Given the description of an element on the screen output the (x, y) to click on. 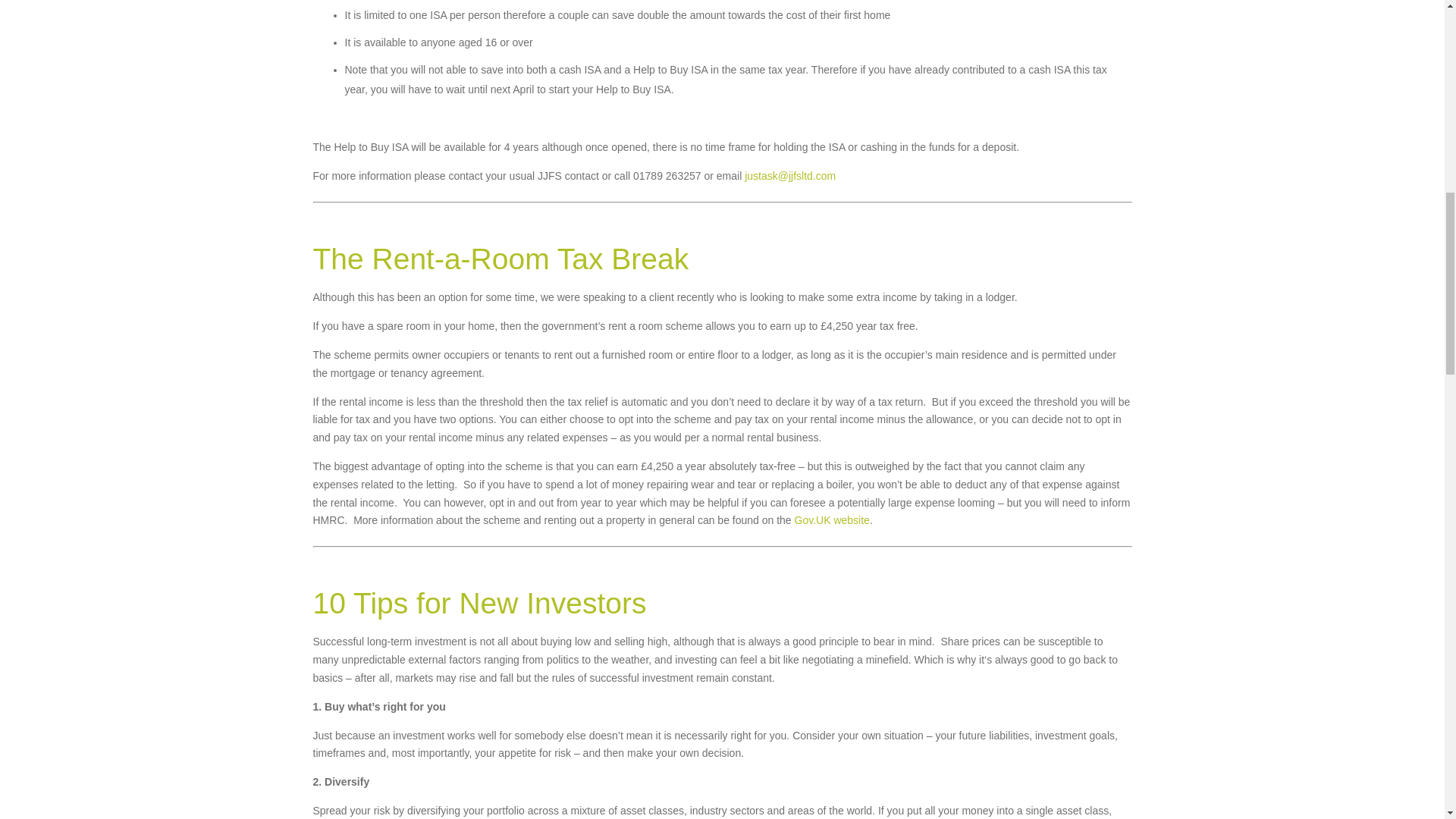
Gov.UK website (831, 520)
